Given the description of an element on the screen output the (x, y) to click on. 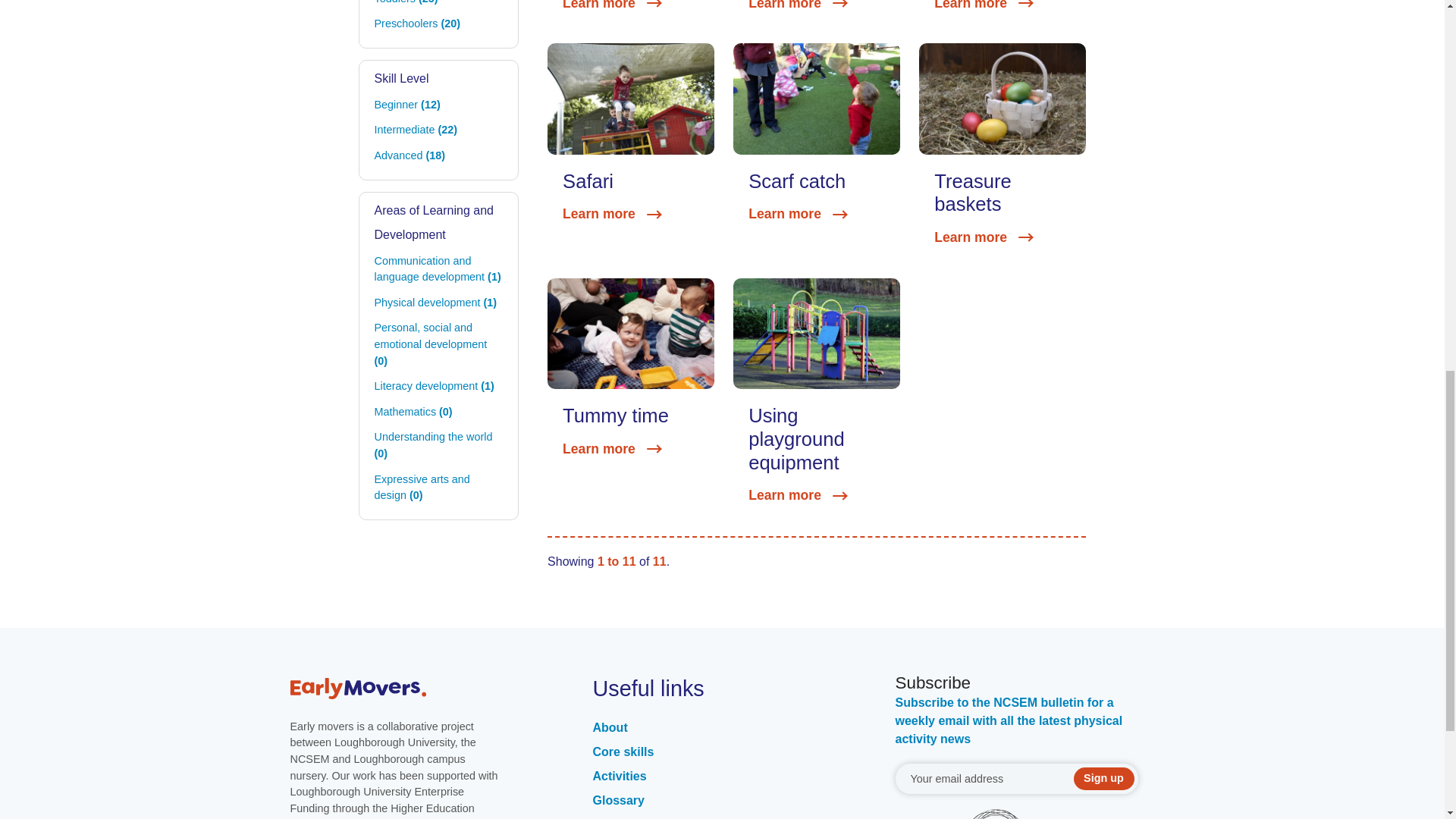
Early Movers (418, 688)
Sign up (1104, 778)
